Given the description of an element on the screen output the (x, y) to click on. 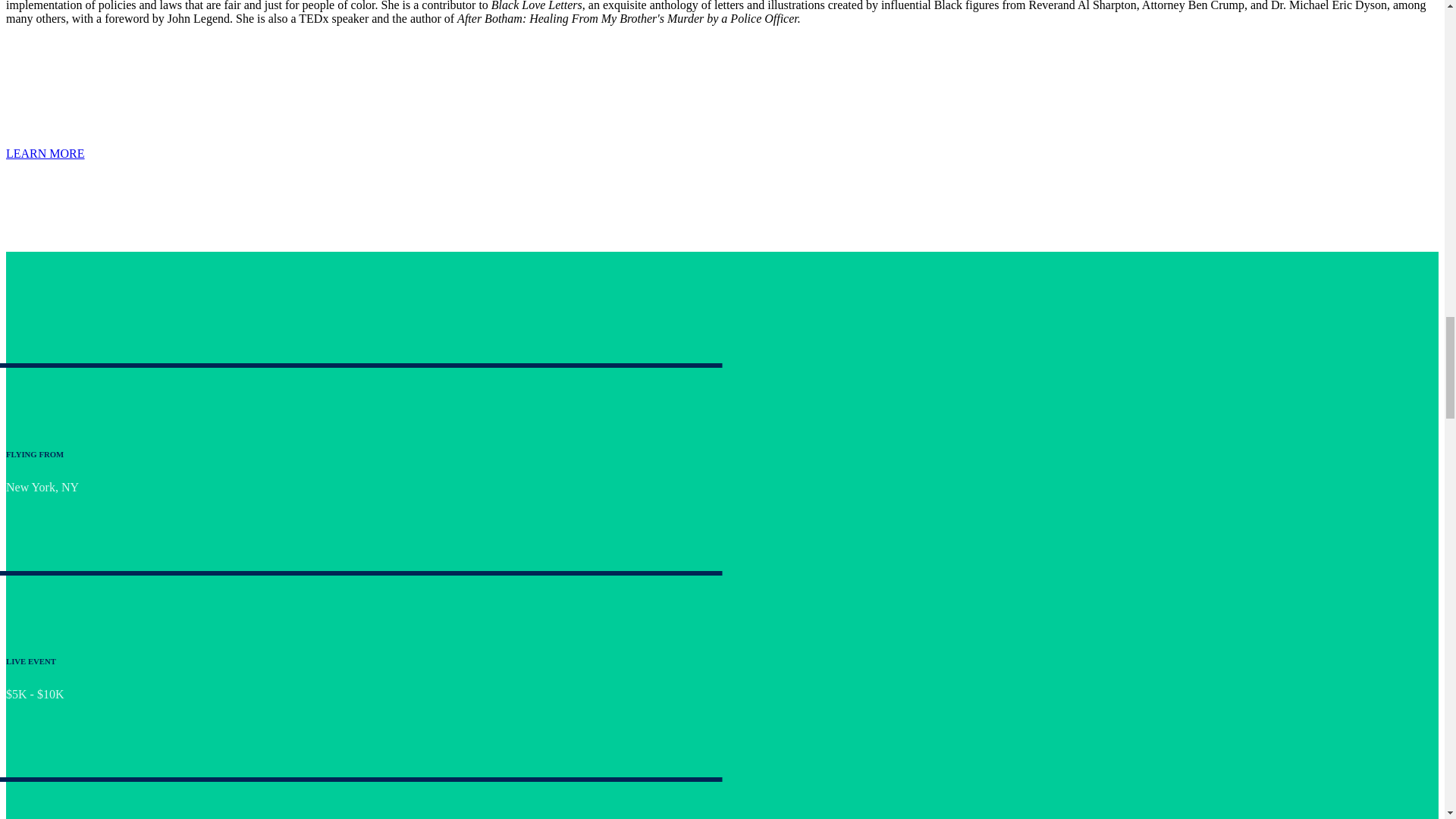
LEARN MORE (44, 153)
